Given the description of an element on the screen output the (x, y) to click on. 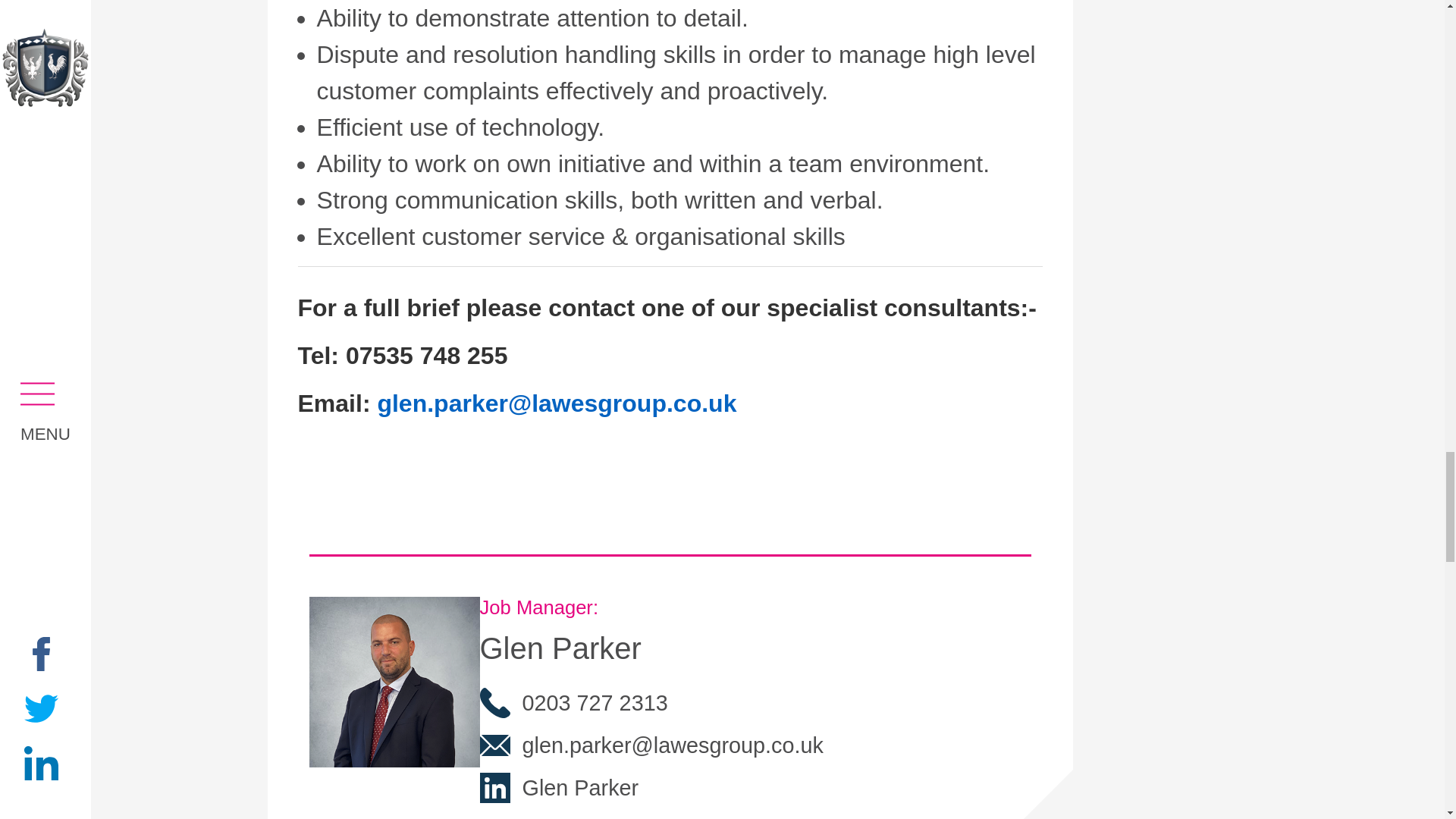
0203 727 2313 (650, 702)
Glen Parker (650, 787)
